Given the description of an element on the screen output the (x, y) to click on. 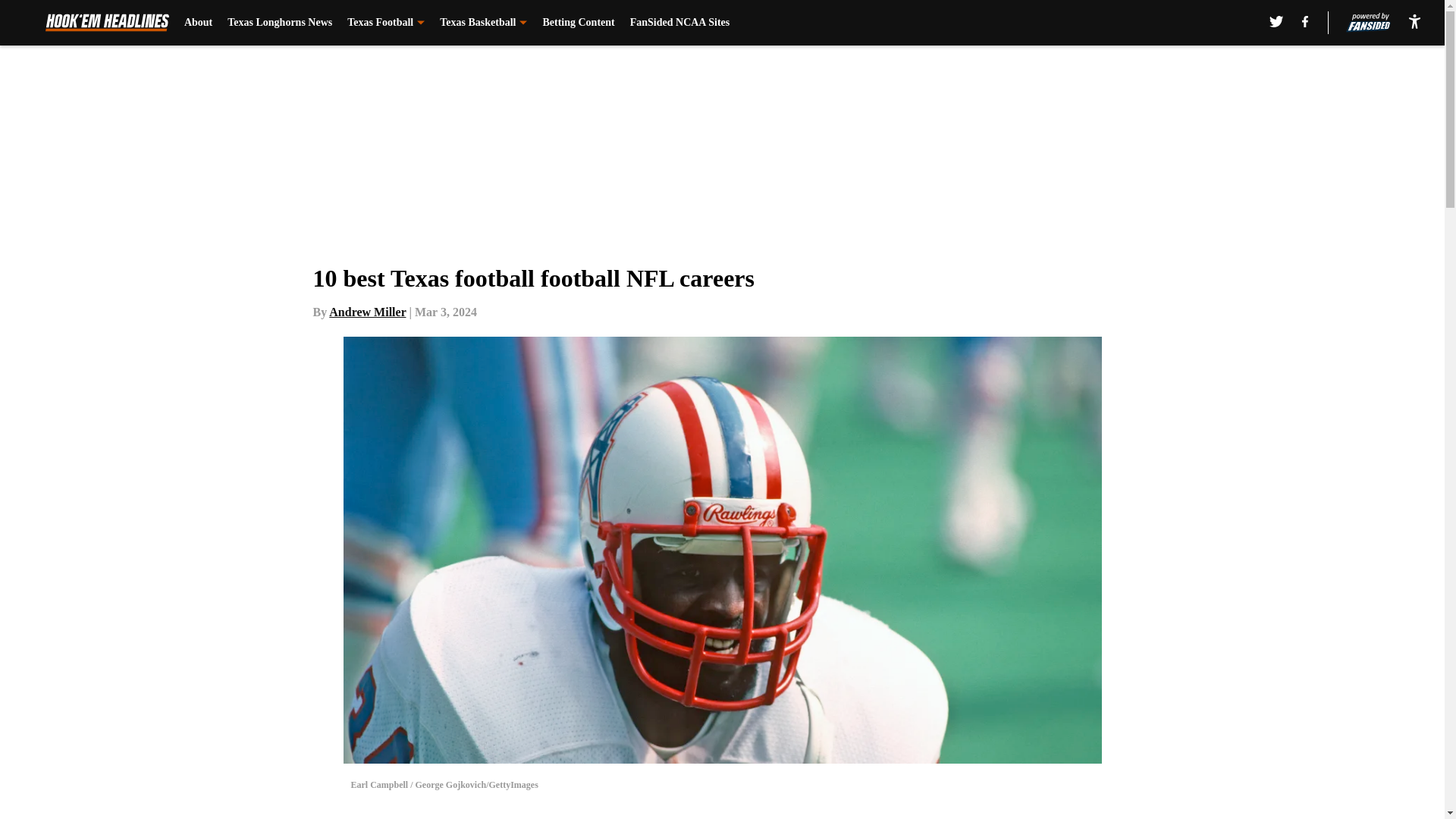
Texas Longhorns News (279, 22)
Betting Content (577, 22)
Andrew Miller (367, 311)
FanSided NCAA Sites (679, 22)
About (198, 22)
